Given the description of an element on the screen output the (x, y) to click on. 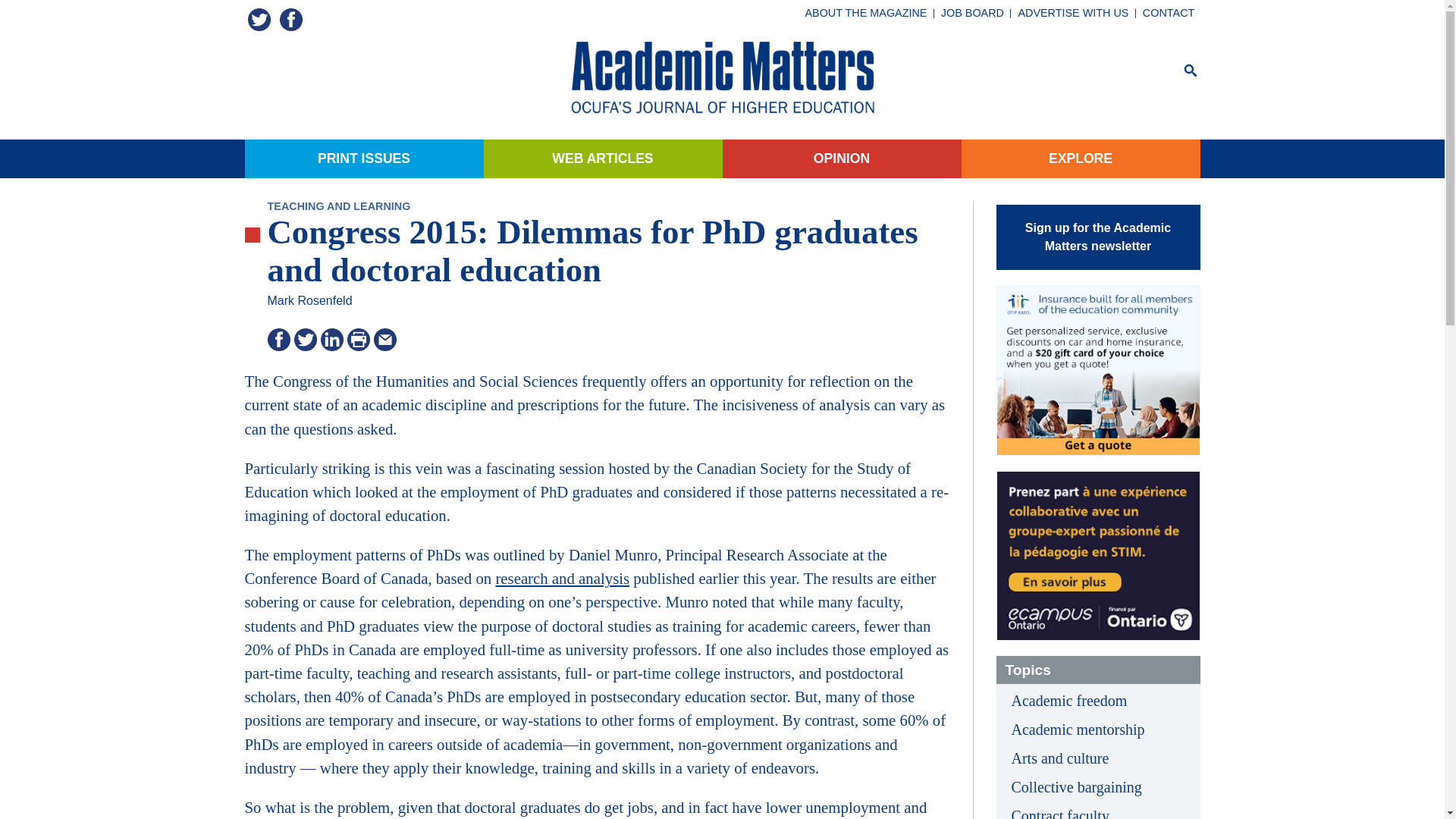
JOB BOARD (973, 13)
WEB ARTICLES (602, 158)
PRINT ISSUES (363, 158)
OPINION (841, 158)
EXPLORE (1079, 158)
TEACHING AND LEARNING (338, 205)
ABOUT THE MAGAZINE (865, 13)
Facebook (290, 19)
Search (1190, 69)
Search (1190, 70)
